Given the description of an element on the screen output the (x, y) to click on. 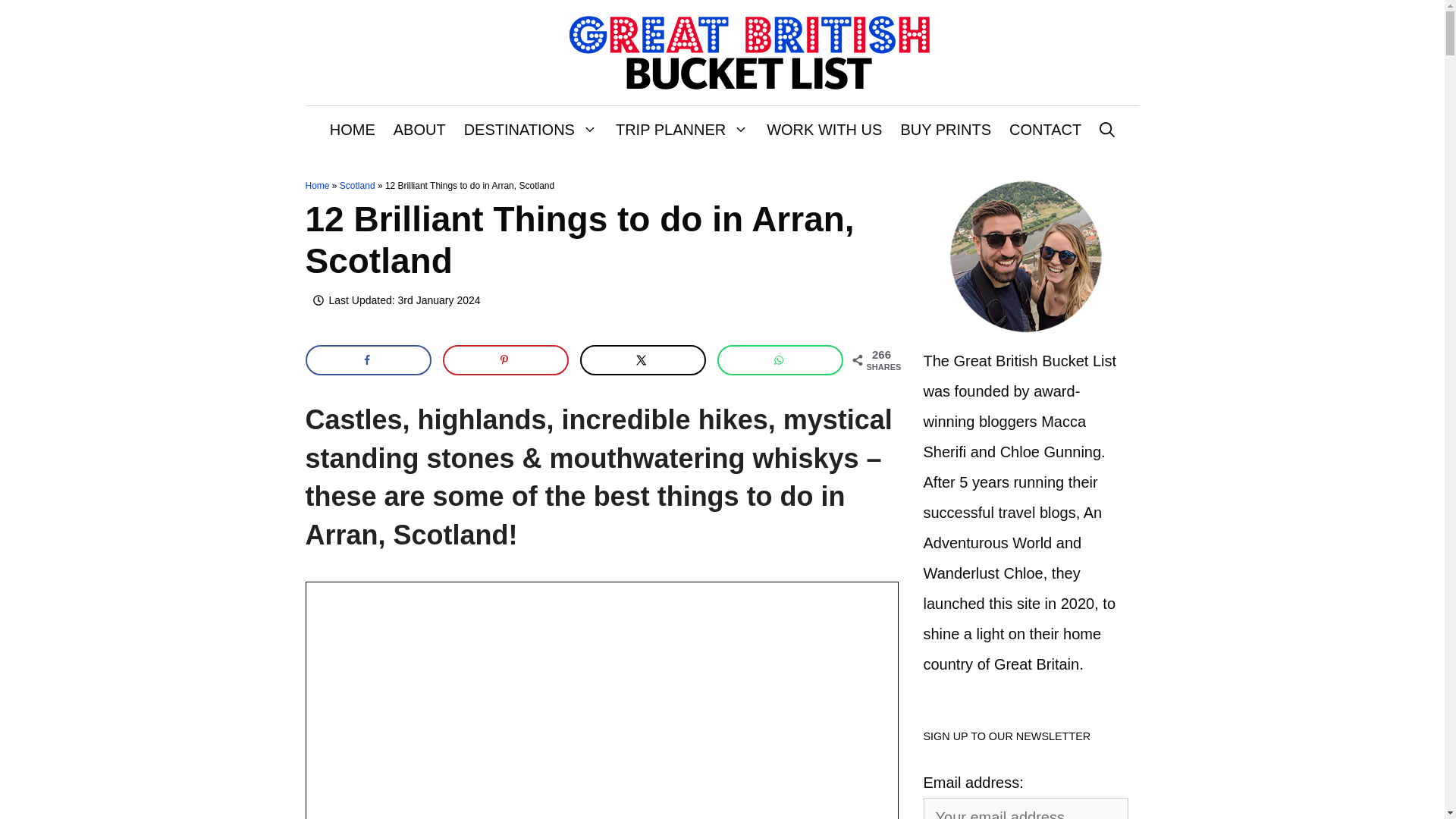
TRIP PLANNER (682, 129)
Home (316, 185)
ABOUT (419, 129)
WORK WITH US (824, 129)
Share on X (642, 359)
Share on WhatsApp (780, 359)
DESTINATIONS (530, 129)
Save to Pinterest (505, 359)
Scotland (357, 185)
CONTACT (1045, 129)
BUY PRINTS (945, 129)
HOME (352, 129)
Share on Facebook (367, 359)
